Given the description of an element on the screen output the (x, y) to click on. 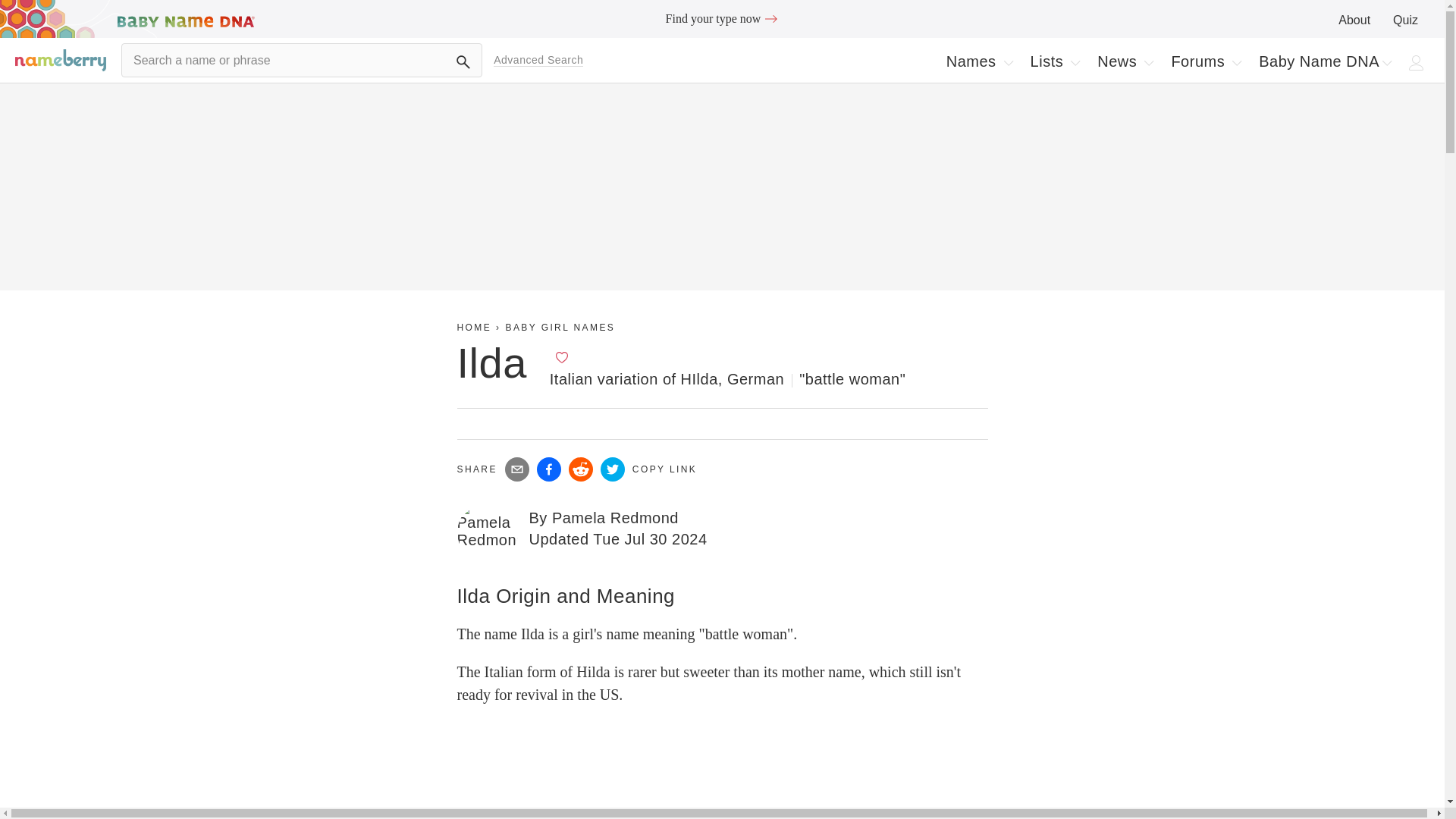
Search (462, 61)
Quiz (1405, 19)
Chevron - Down (1055, 61)
User (1148, 62)
HEART (1416, 62)
Chevron - Down (561, 356)
Chevron - Down (1236, 62)
Chevron - Down (1386, 62)
About (721, 18)
Arrow Right (1075, 62)
Chevron - Down (979, 61)
